Given the description of an element on the screen output the (x, y) to click on. 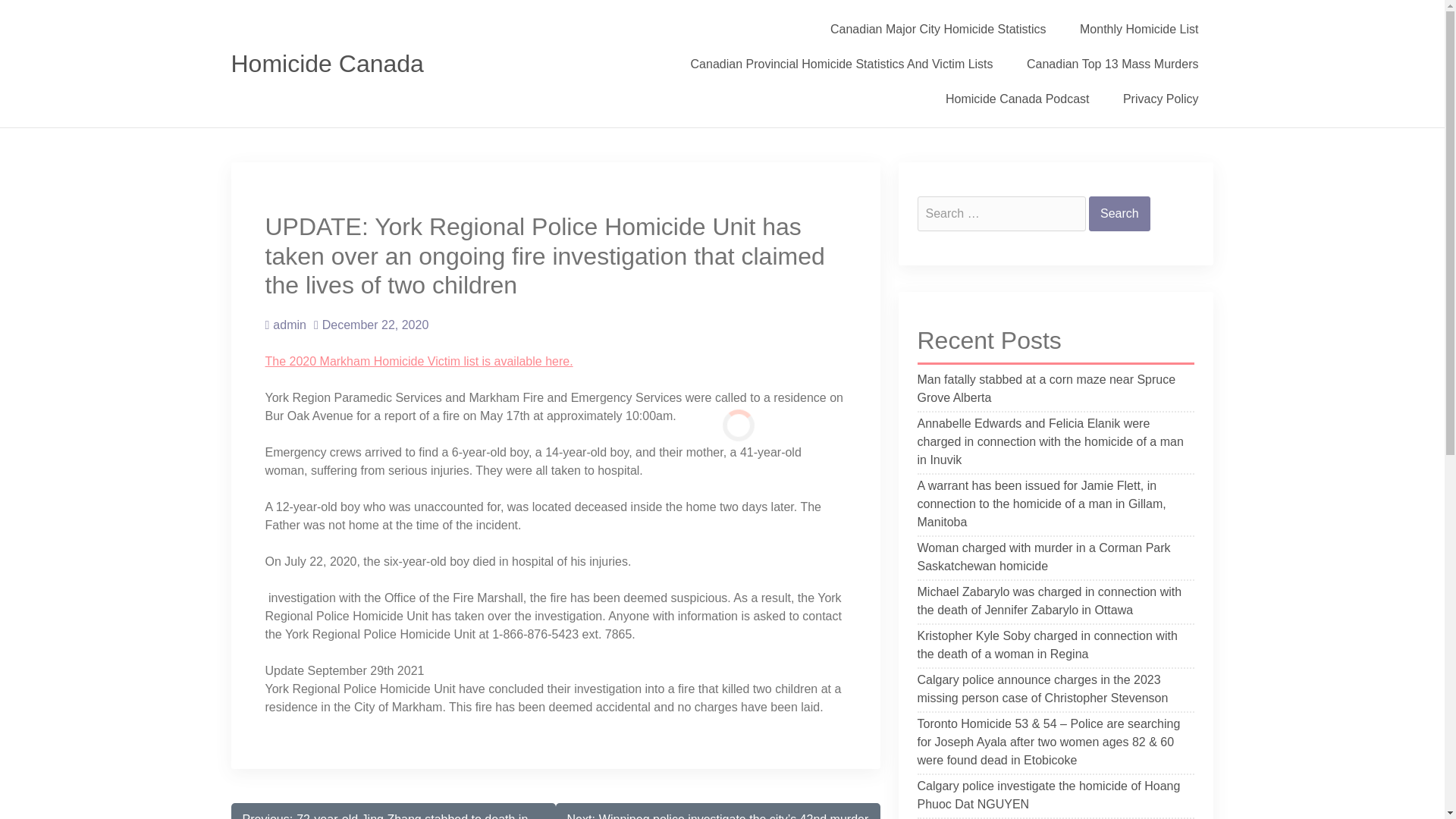
Canadian Provincial Homicide Statistics And Victim Lists (842, 63)
admin (284, 324)
Canadian Major City Homicide Statistics (938, 28)
Man fatally stabbed at a corn maze near Spruce Grove Alberta (1056, 391)
December 22, 2020 (371, 324)
Canadian Top 13 Mass Murders (1112, 63)
Search (1119, 213)
The 2020 Markham Homicide Victim list is available here. (418, 360)
